Given the description of an element on the screen output the (x, y) to click on. 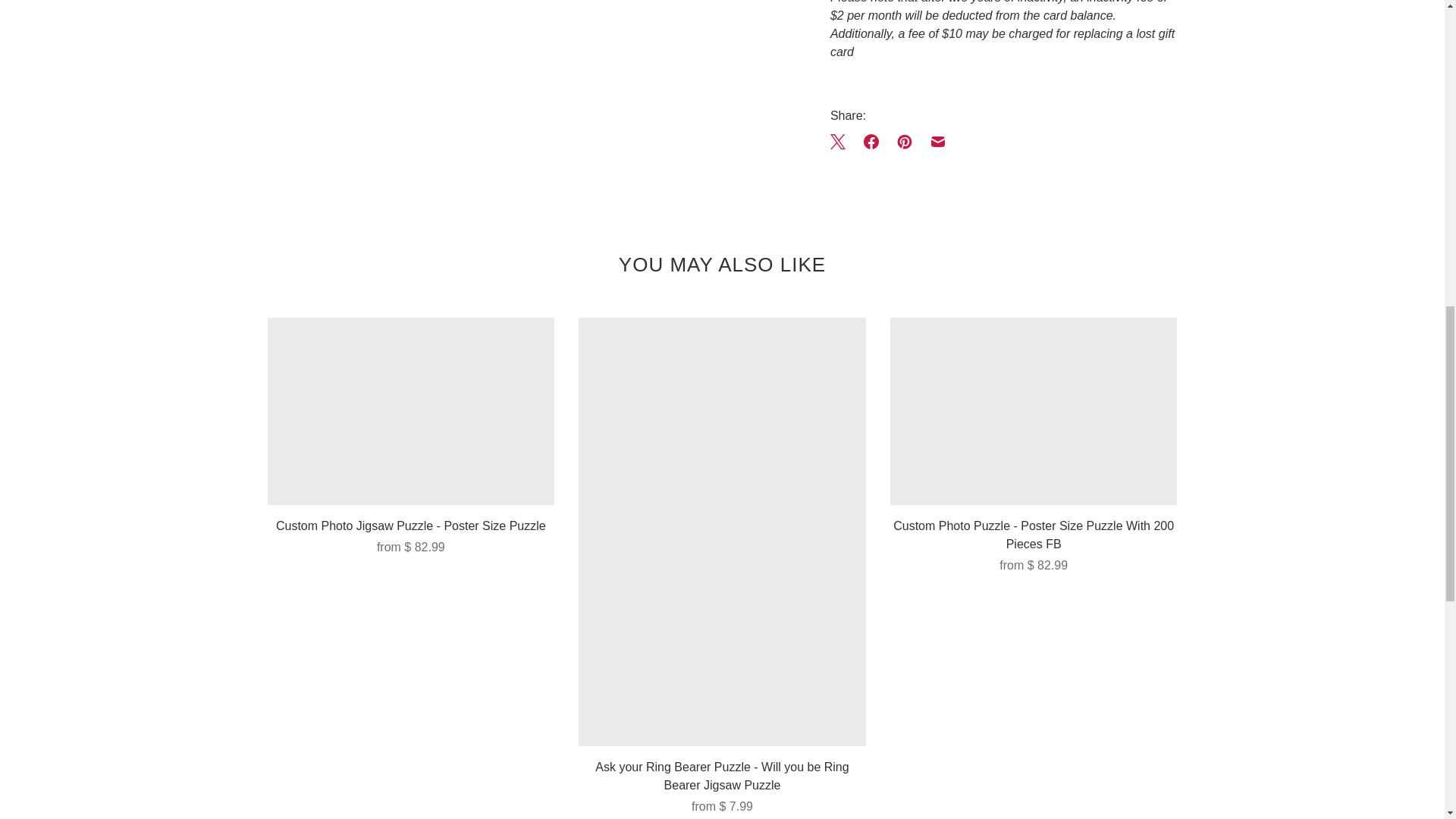
Share this on Facebook (871, 141)
Share this on Pinterest (904, 141)
Email this to a friend (938, 141)
